Given the description of an element on the screen output the (x, y) to click on. 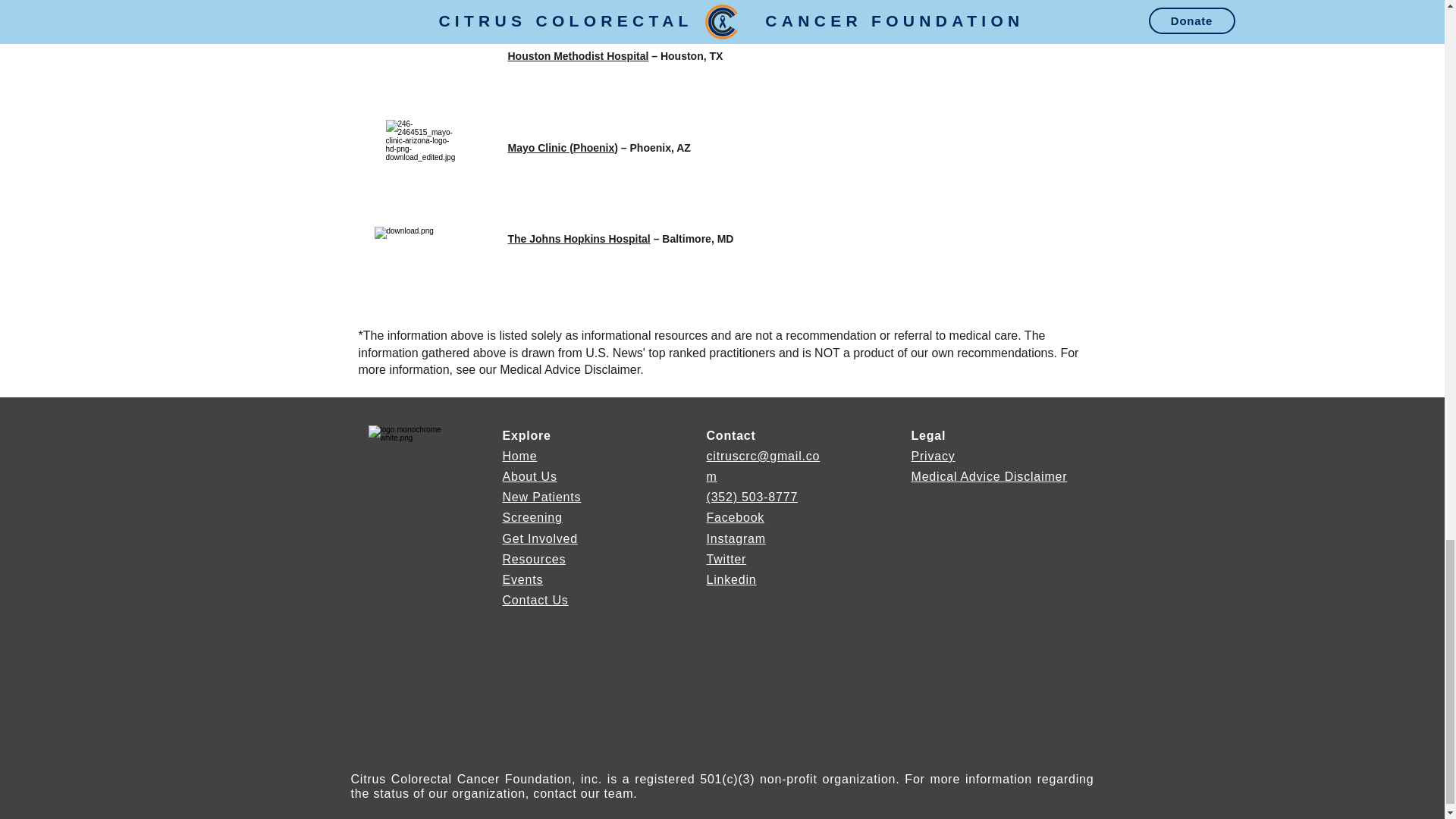
Instagram (735, 538)
Events (522, 579)
Linkedin (731, 579)
Twitter (726, 558)
About Us (529, 476)
Screening (532, 517)
Contact Us (534, 599)
Resources (534, 558)
Home (519, 455)
Facebook (735, 517)
